Given the description of an element on the screen output the (x, y) to click on. 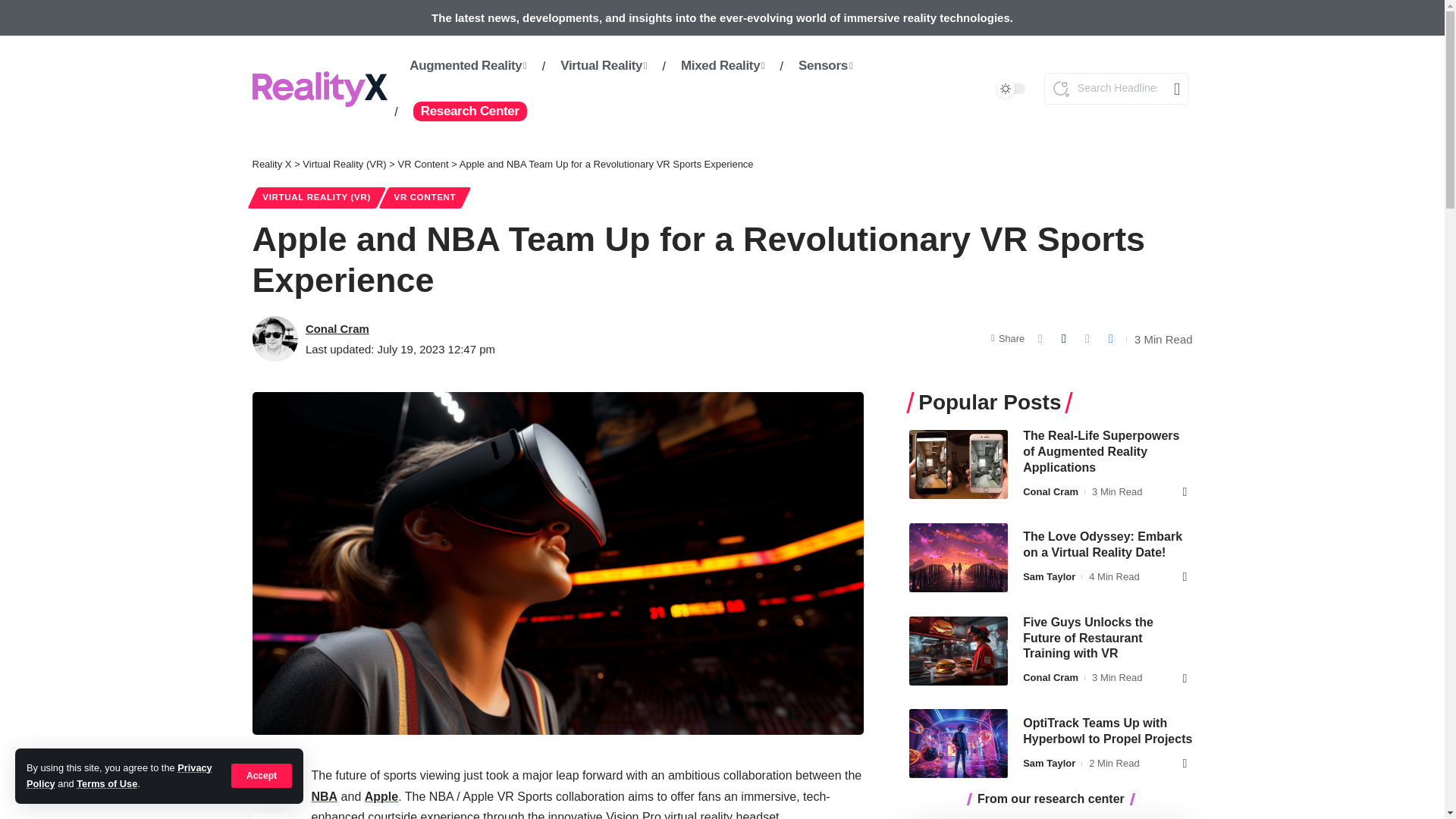
Go to the VR Content Category archives. (422, 163)
Virtual Reality (603, 65)
The Real-Life Superpowers of Augmented Reality Applications (957, 463)
Sensors (825, 65)
Terms of Use (106, 783)
Accept (261, 775)
Five Guys Unlocks the Future of Restaurant Training with VR (957, 649)
Research Center (469, 111)
Search (1172, 88)
